Given the description of an element on the screen output the (x, y) to click on. 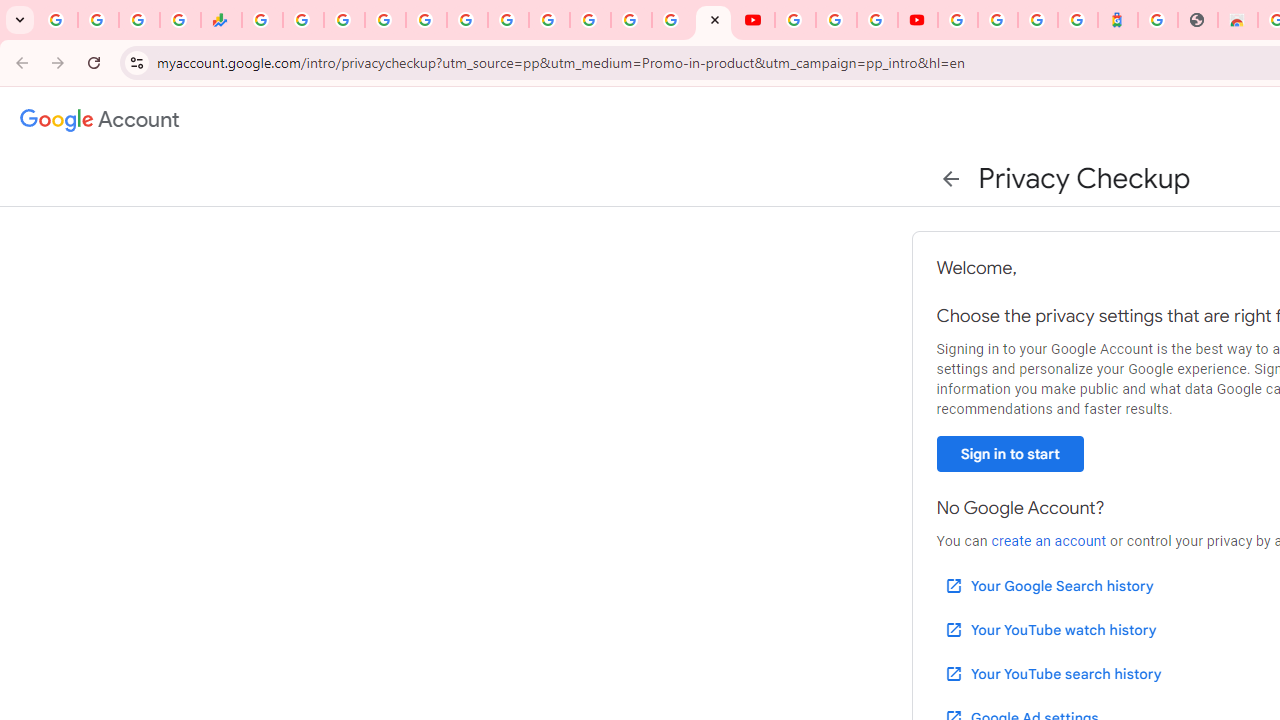
Your Google Search history (1048, 586)
Google Workspace Admin Community (57, 20)
Sign in - Google Accounts (589, 20)
Google Account settings (100, 120)
Sign in - Google Accounts (957, 20)
Your YouTube search history (1052, 673)
YouTube (795, 20)
Atour Hotel - Google hotels (1117, 20)
